Given the description of an element on the screen output the (x, y) to click on. 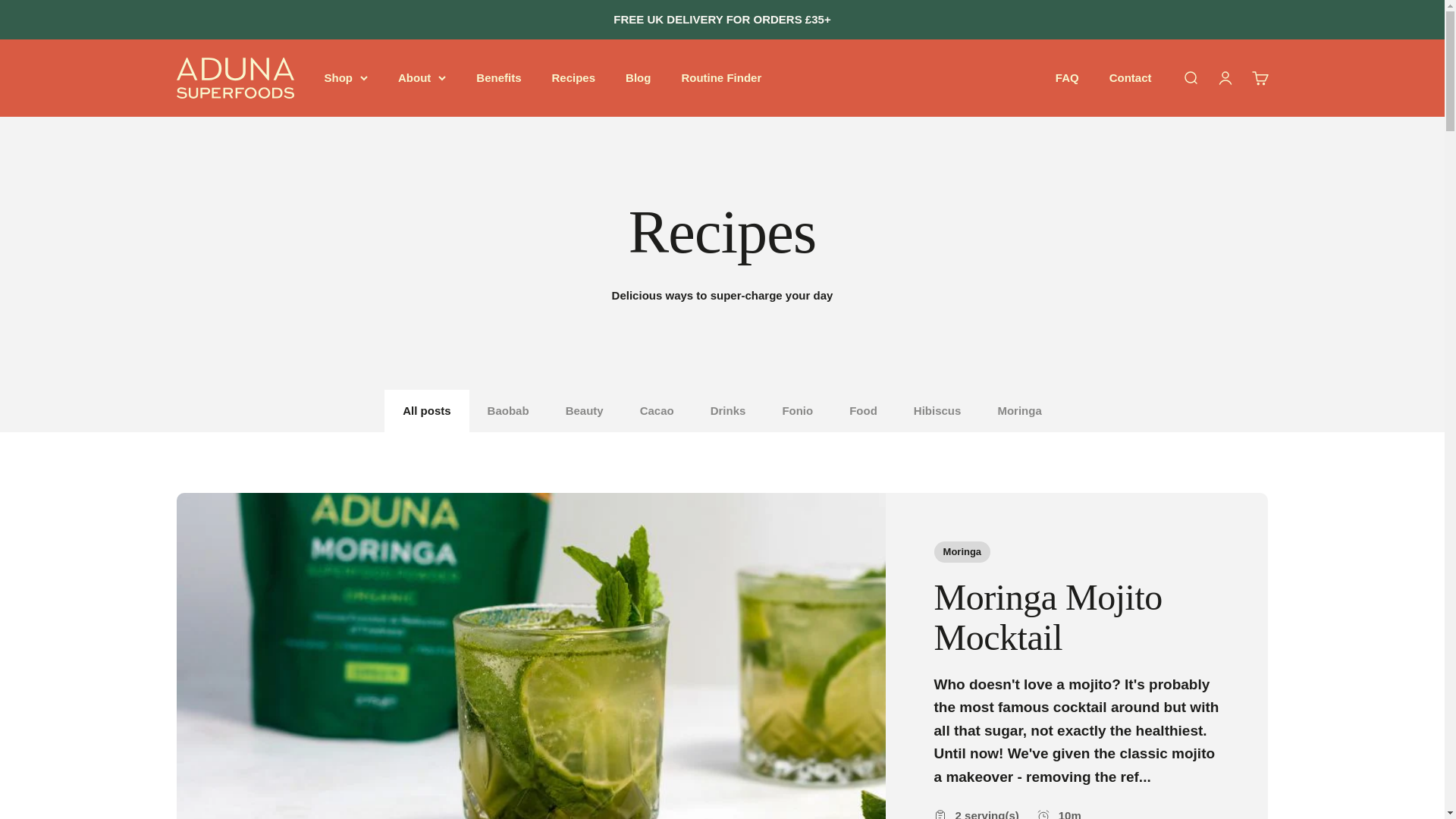
Show articles tagged Food (863, 410)
Contact (1130, 77)
Show articles tagged Fonio (796, 410)
Aduna (235, 77)
Open account page (1224, 77)
Show articles tagged Beauty (584, 410)
Show articles tagged Cacao (657, 410)
Benefits (498, 77)
FAQ (1066, 77)
Show articles tagged Hibiscus (937, 410)
